Given the description of an element on the screen output the (x, y) to click on. 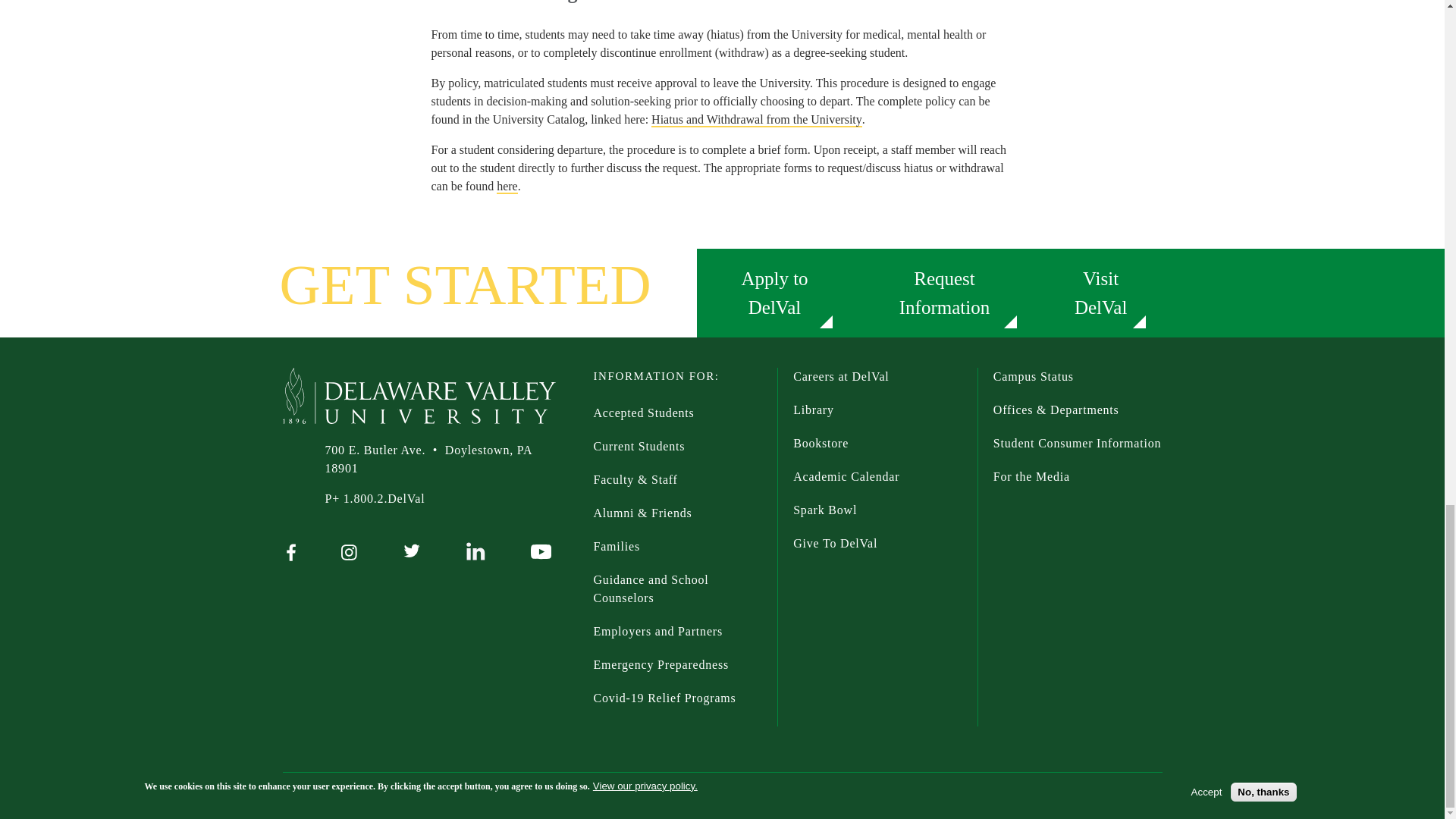
Partners for Progress (676, 631)
